Given the description of an element on the screen output the (x, y) to click on. 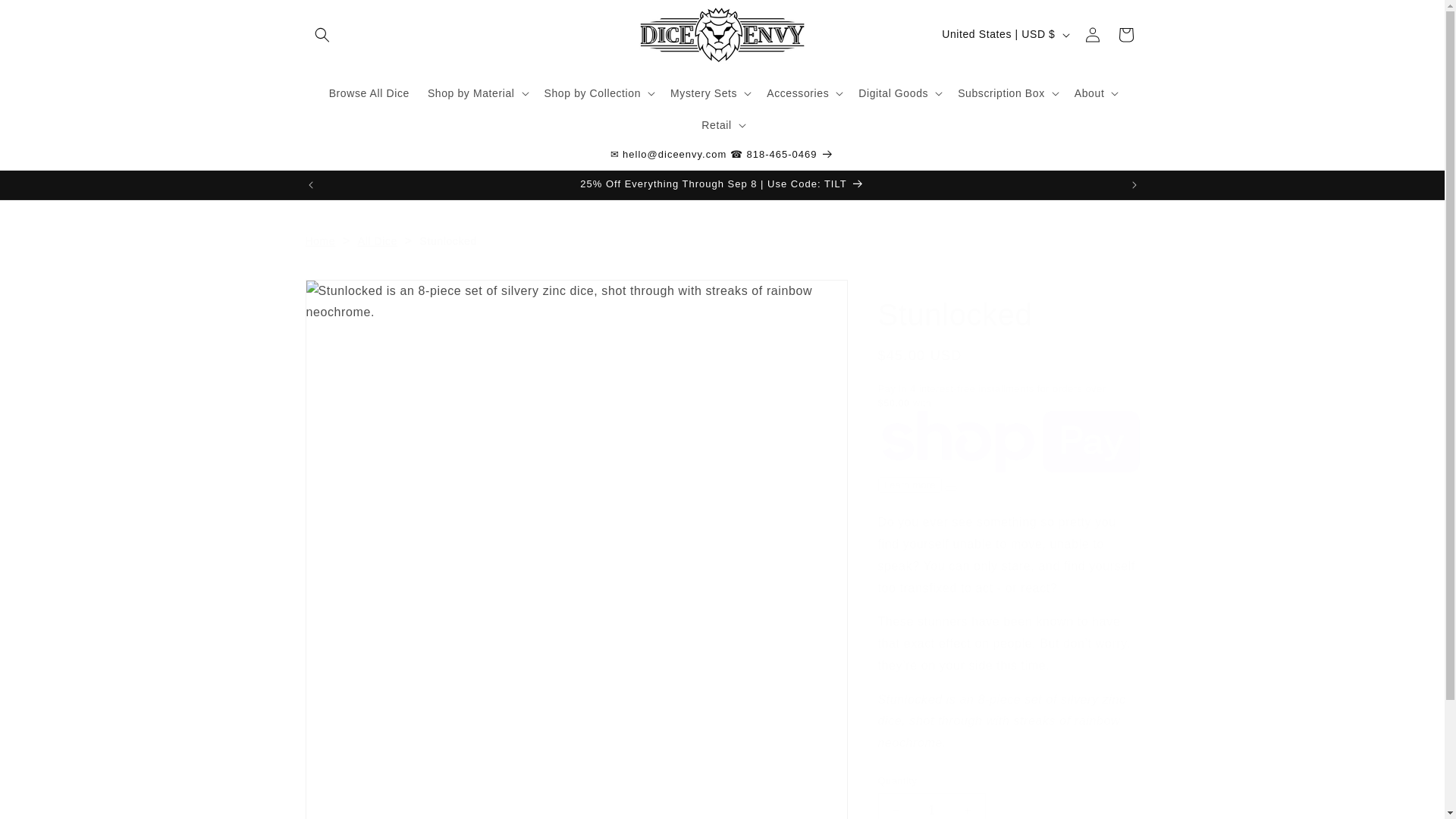
1 (931, 806)
Skip to content (45, 17)
